Given the description of an element on the screen output the (x, y) to click on. 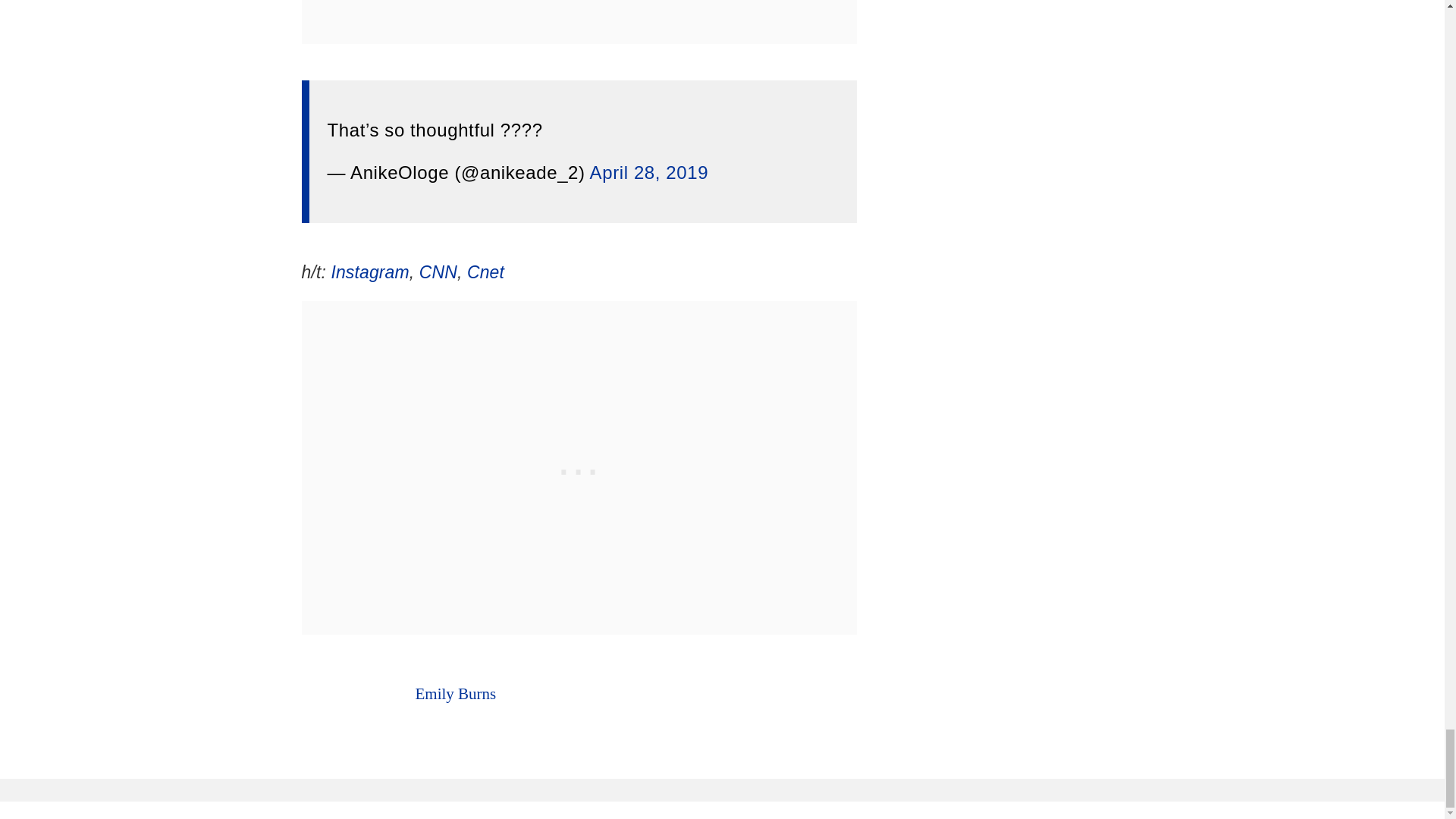
Emily Burns (455, 693)
Cnet (485, 271)
Instagram (369, 271)
April 28, 2019 (649, 172)
CNN (438, 271)
